Given the description of an element on the screen output the (x, y) to click on. 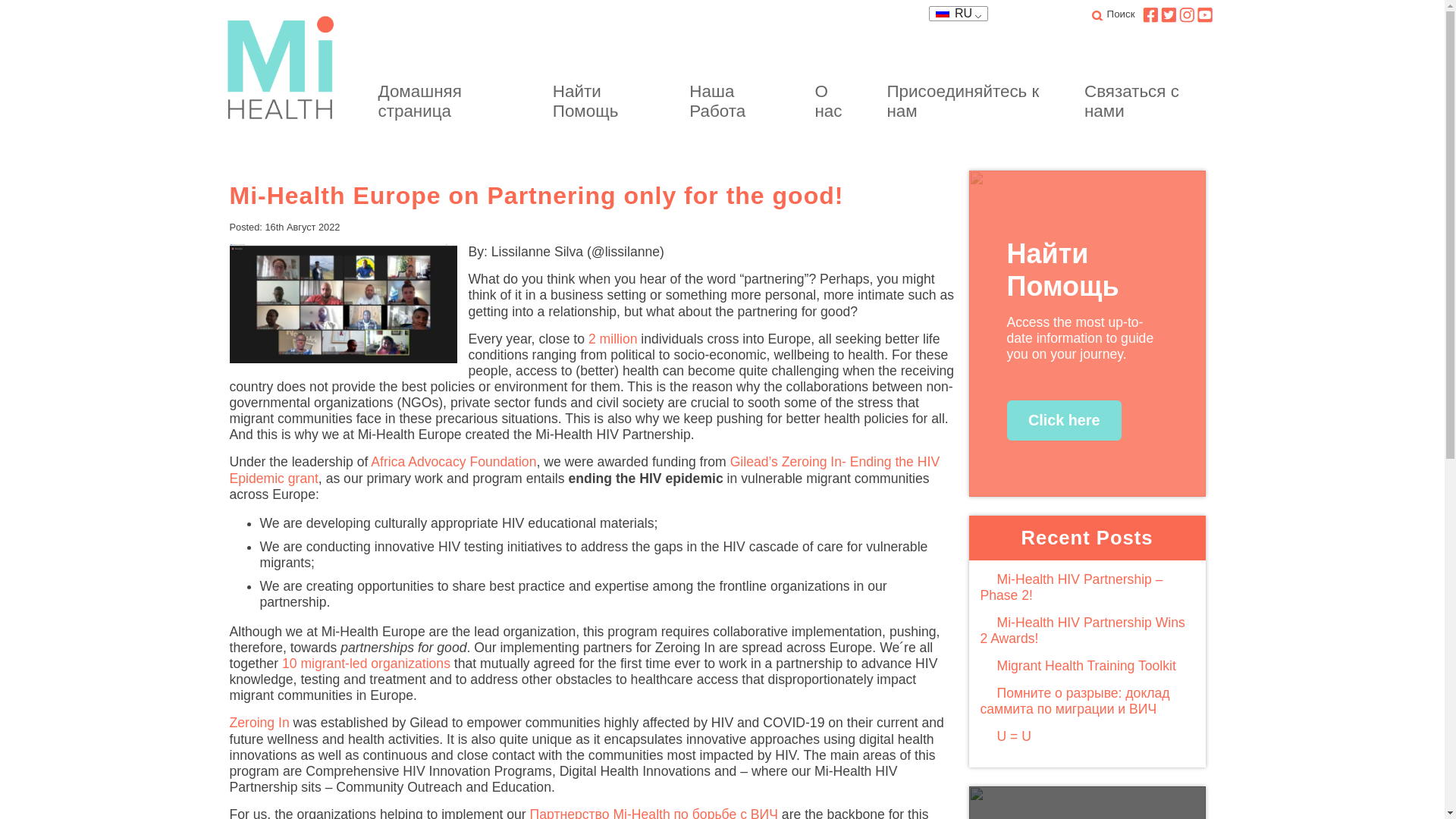
Click here (1064, 420)
2 million (612, 338)
Africa Advocacy Foundation (453, 461)
RU (952, 13)
Russian (952, 13)
Zeroing In (258, 722)
Mi-Health (283, 71)
Russian (942, 12)
10 migrant-led organizations (365, 663)
